Given the description of an element on the screen output the (x, y) to click on. 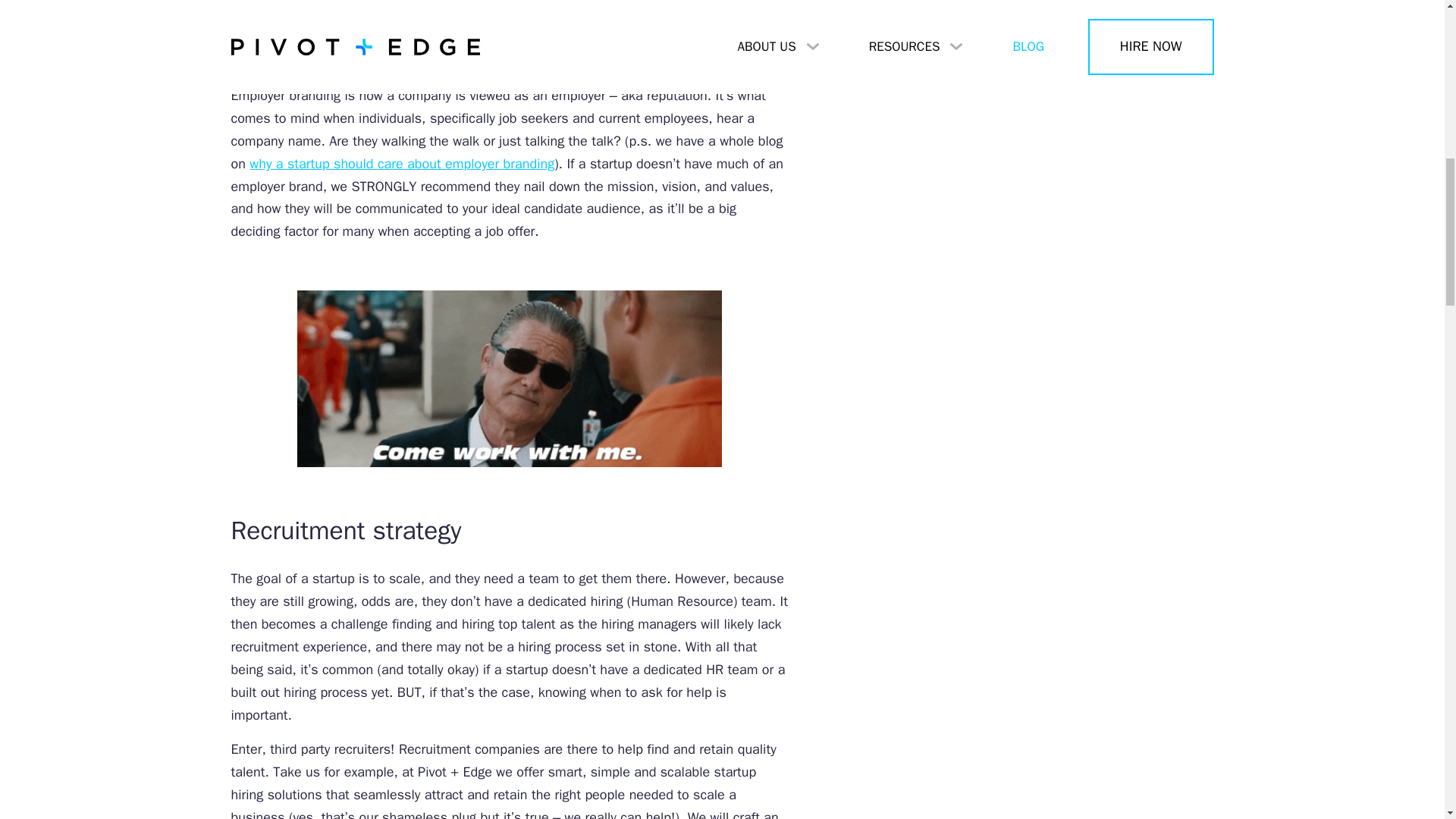
why a startup should care about employer branding (401, 163)
Subscribe (1018, 17)
Subscribe (1018, 17)
